Given the description of an element on the screen output the (x, y) to click on. 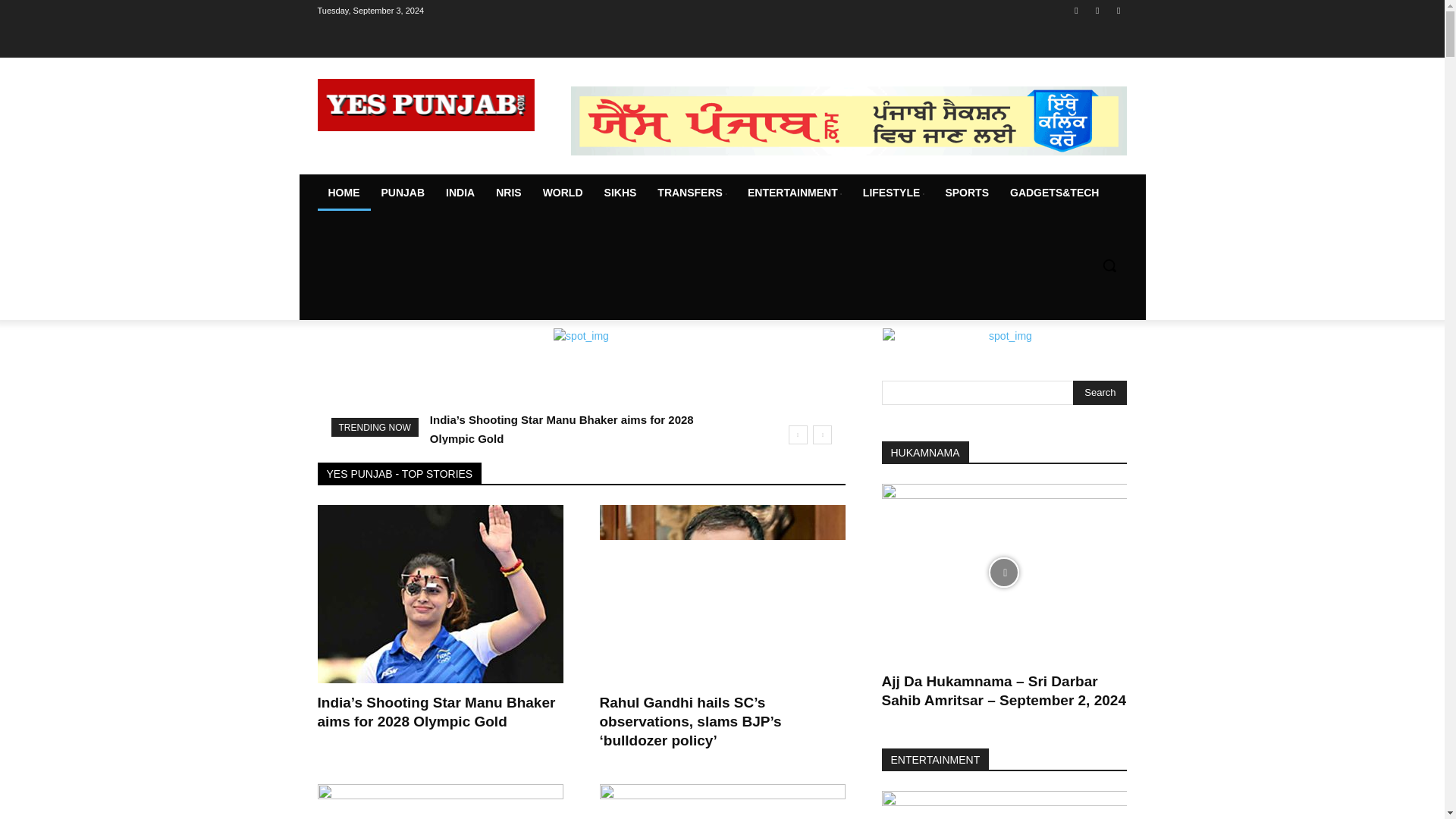
SIKHS (620, 192)
WORLD (563, 192)
INDIA (459, 192)
Twitter (1117, 9)
PUNJAB (402, 192)
TRANSFERS (691, 192)
Facebook (1075, 9)
HOME (343, 192)
ENTERTAINMENT (793, 192)
NRIS (507, 192)
